Given the description of an element on the screen output the (x, y) to click on. 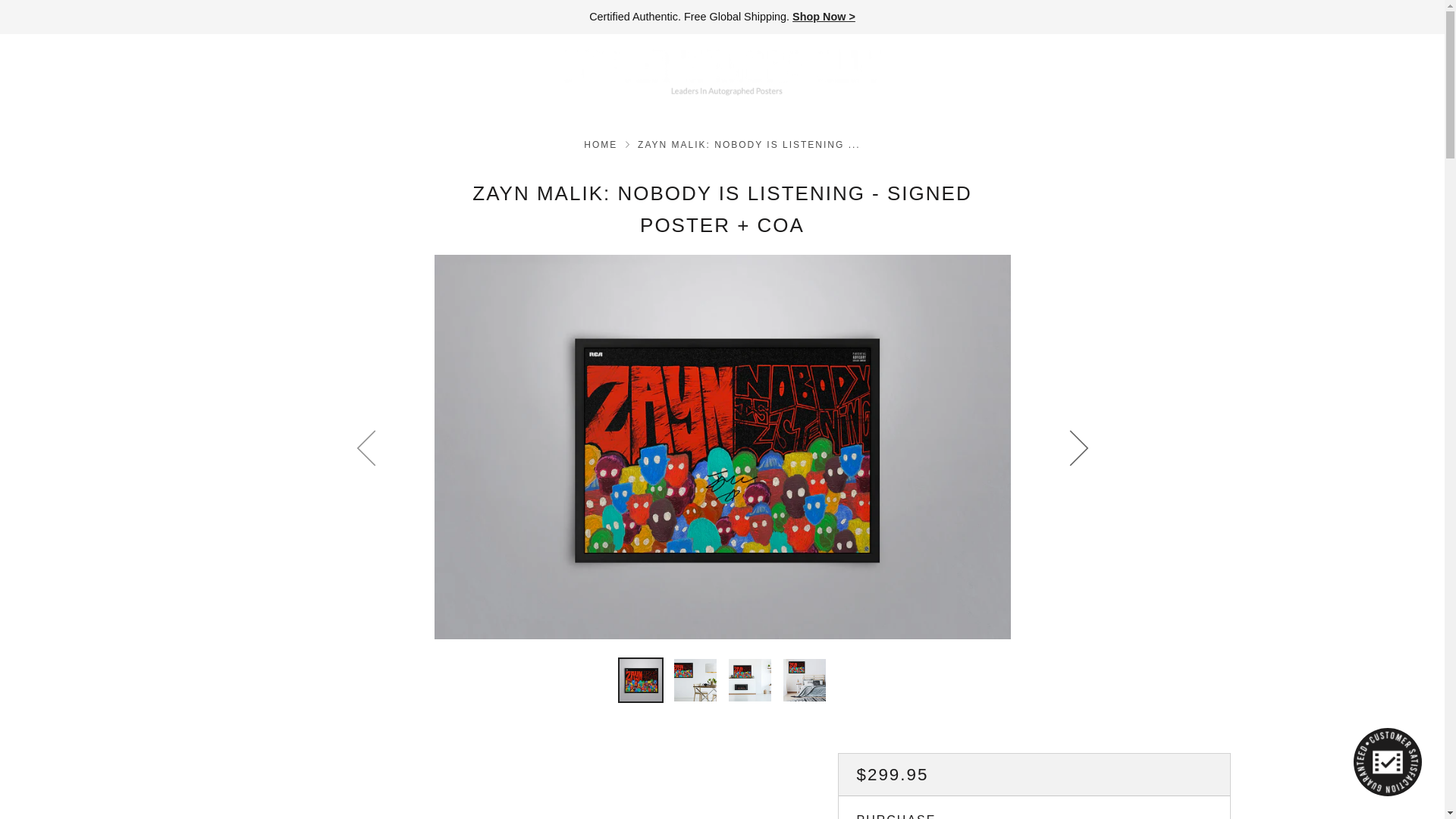
New Releases (824, 16)
Home (600, 144)
SHOP BY CATEGORY (93, 70)
